Given the description of an element on the screen output the (x, y) to click on. 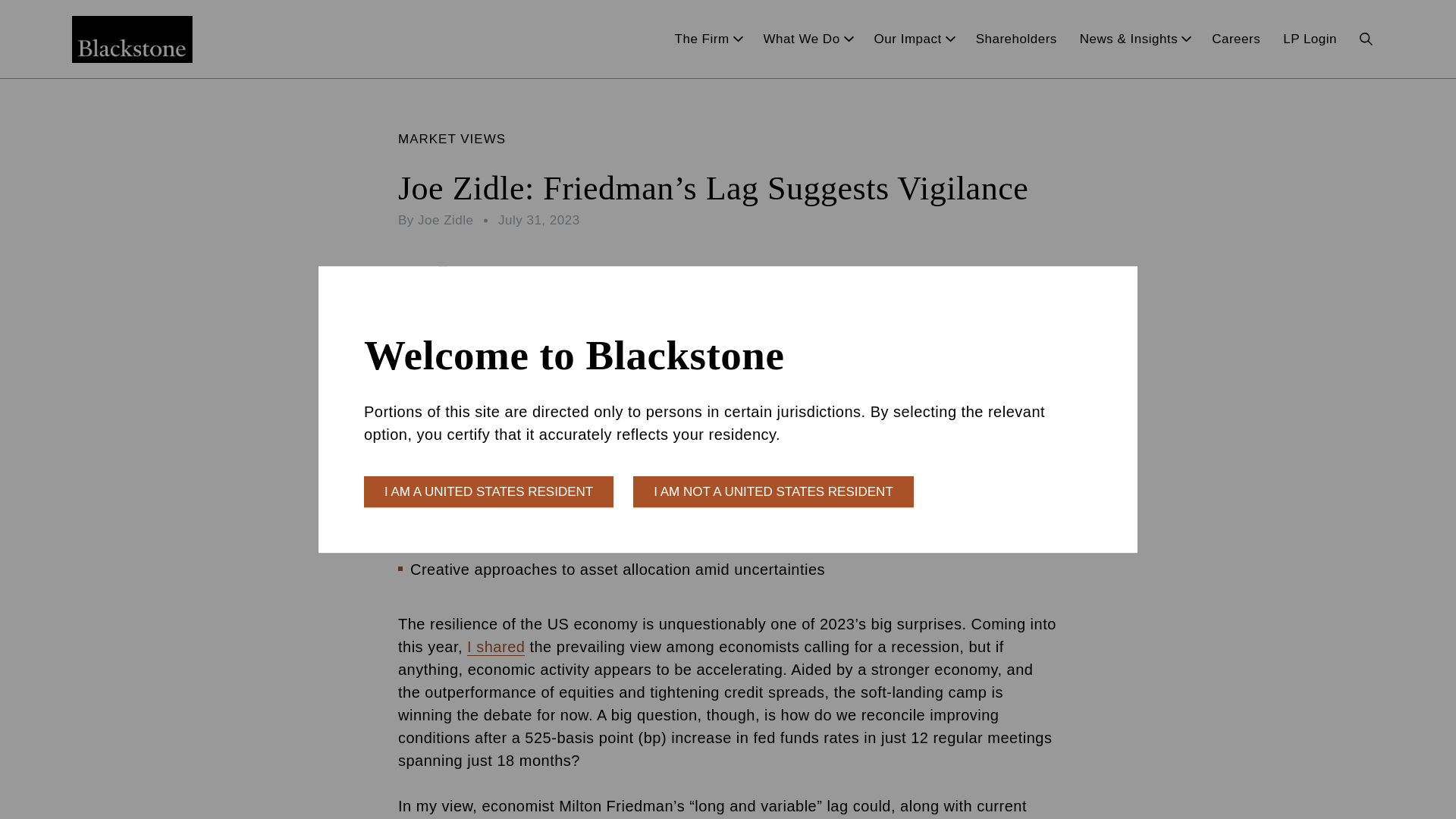
Blackstone (131, 38)
Our Impact (913, 39)
The Firm (707, 39)
What We Do (807, 39)
